Given the description of an element on the screen output the (x, y) to click on. 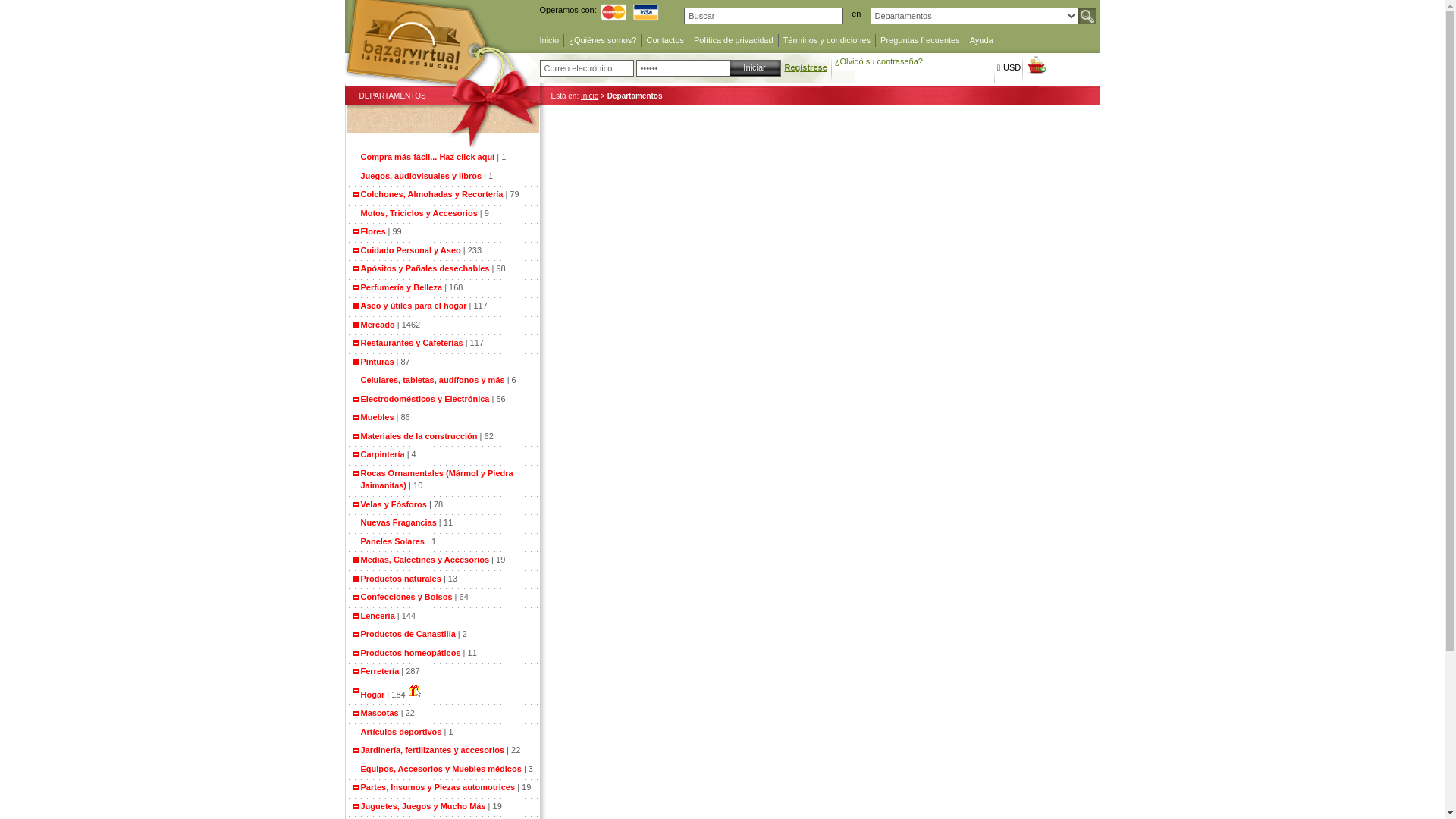
Iniciar Element type: text (754, 68)
Confecciones y Bolsos Element type: text (406, 596)
Productos de Canastilla Element type: text (407, 633)
Paneles Solares Element type: text (393, 541)
Cesta Element type: hover (1036, 64)
Mascotas Element type: text (379, 712)
Buscar Element type: hover (1086, 15)
tarjetas MASTERCARD y VISA Element type: hover (632, 12)
Mercado Element type: text (377, 324)
Preguntas frecuentes Element type: text (920, 40)
Hogar Element type: text (372, 694)
Medias, Calcetines y Accesorios Element type: text (424, 559)
Nuevas Fragancias Element type: text (399, 522)
Contactos Element type: text (665, 40)
Muebles Element type: text (377, 416)
Flores Element type: text (372, 230)
Partes, Insumos y Piezas automotrices Element type: text (437, 786)
Cuidado Personal y Aseo Element type: text (410, 249)
Inicio Element type: text (549, 40)
Ayuda Element type: text (981, 40)
Motos, Triciclos y Accesorios Element type: text (420, 211)
Bazar Virtual - Compra DTodo desde tu hogar Element type: hover (443, 76)
Pinturas Element type: text (377, 360)
Inicio Element type: text (589, 95)
Productos naturales Element type: text (400, 577)
Juegos, audiovisuales y libros Element type: text (422, 175)
